Given the description of an element on the screen output the (x, y) to click on. 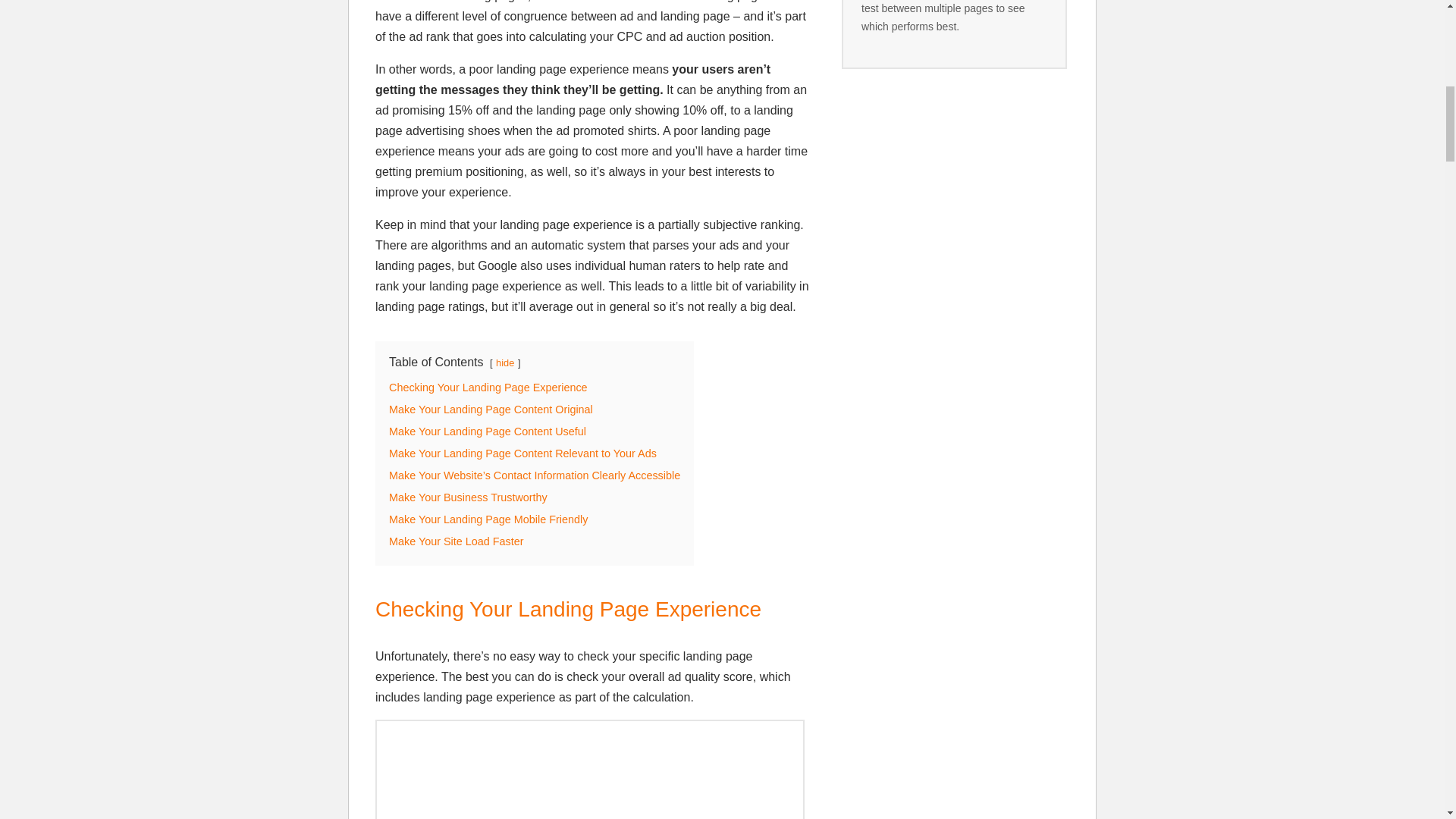
hide (504, 362)
Checking Your Landing Page Experience (488, 387)
Make Your Landing Page Content Useful (487, 431)
Make Your Landing Page Content Original (490, 409)
Make Your Site Load Faster (456, 541)
Make Your Business Trustworthy (467, 497)
Make Your Landing Page Mobile Friendly (488, 519)
Make Your Landing Page Content Relevant to Your Ads (522, 453)
